Given the description of an element on the screen output the (x, y) to click on. 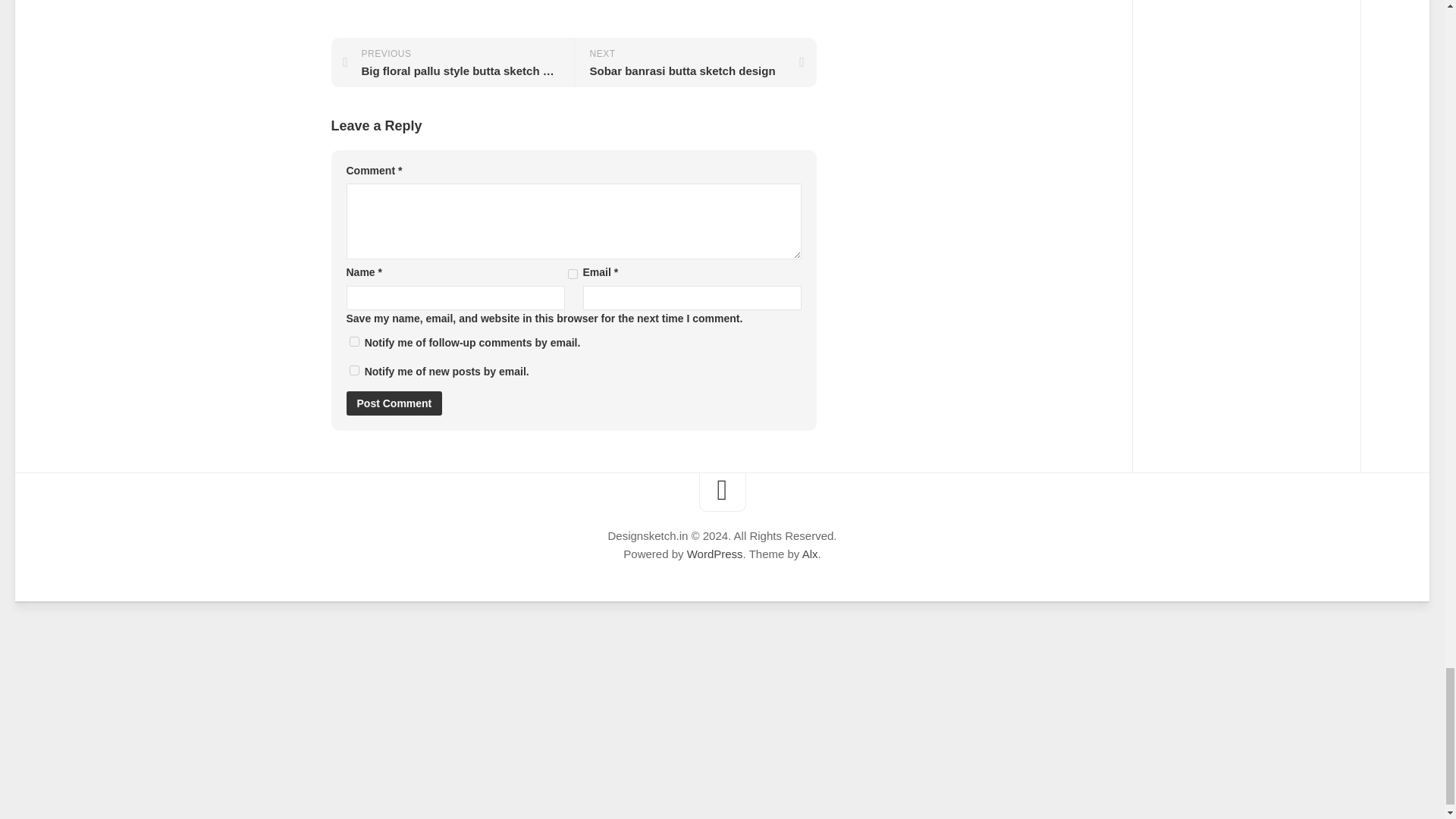
Post Comment (394, 403)
subscribe (353, 341)
yes (571, 274)
subscribe (353, 370)
